Given the description of an element on the screen output the (x, y) to click on. 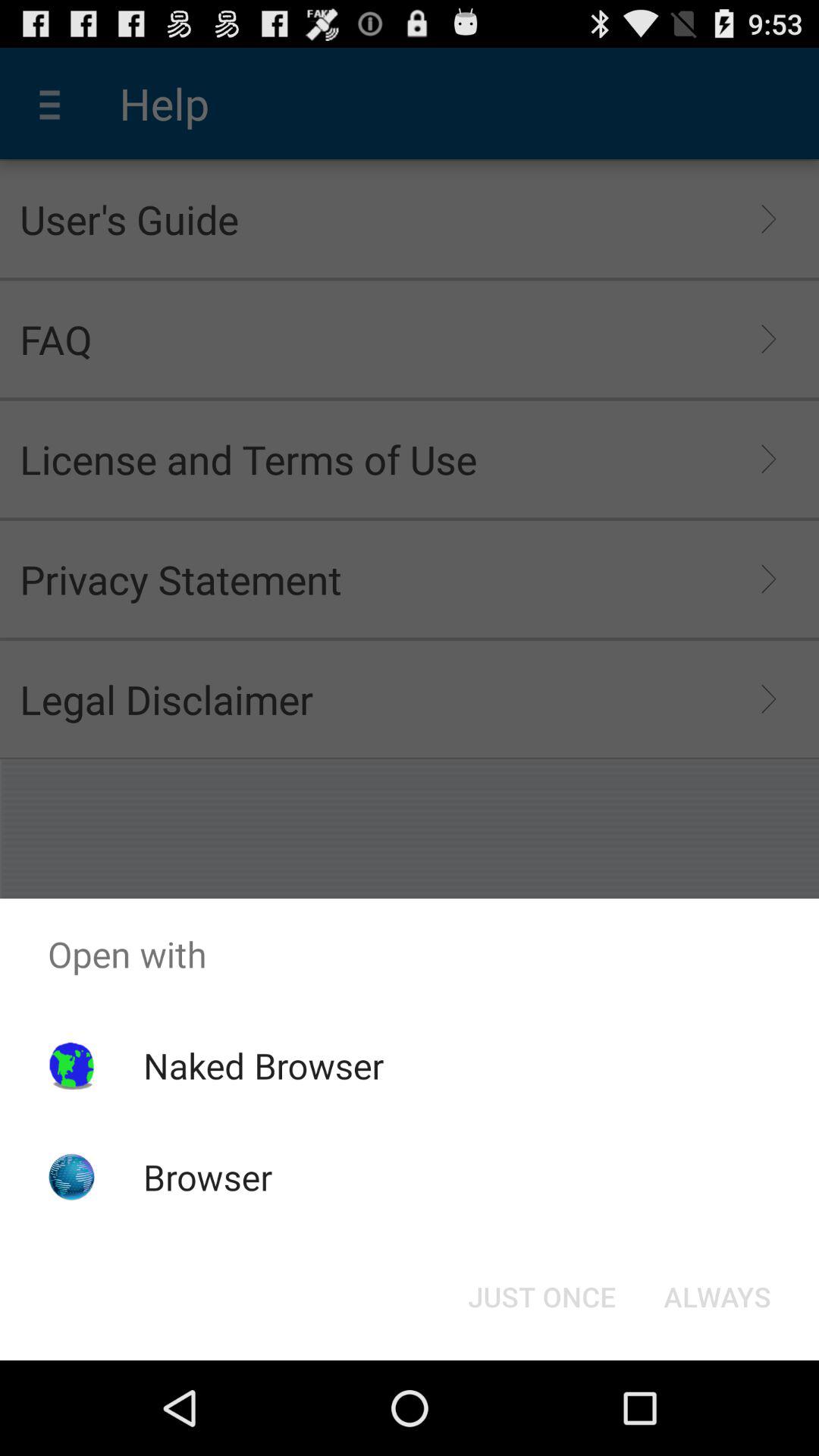
swipe to the always (717, 1296)
